Given the description of an element on the screen output the (x, y) to click on. 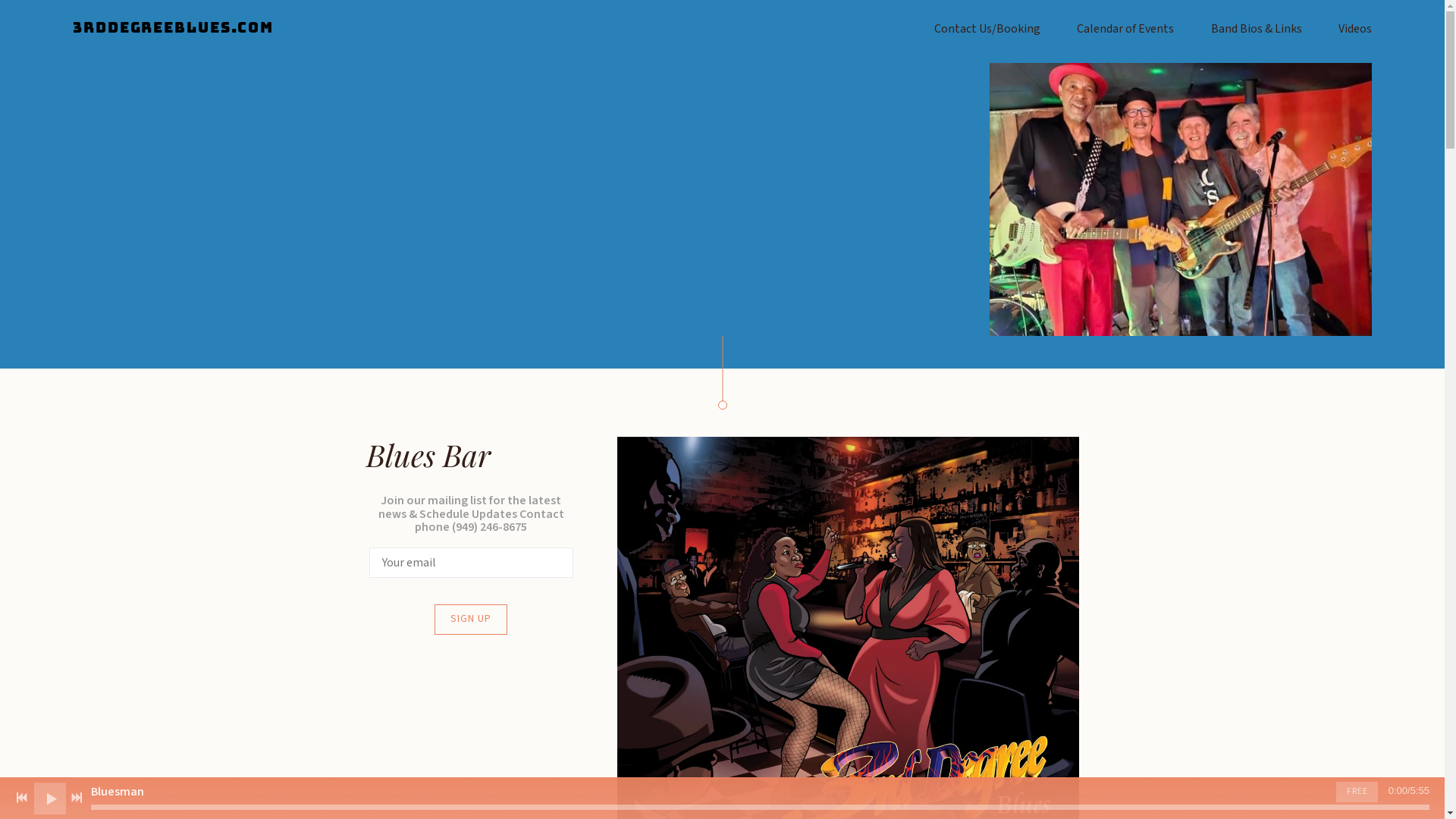
3rdDegreeBlues.com Element type: text (172, 28)
Calendar of Events Element type: text (1124, 29)
Contact Us/Booking Element type: text (987, 29)
Band Bios & Links Element type: text (1256, 29)
Previous track Element type: hover (21, 797)
SIGN UP Element type: text (470, 619)
Play Element type: hover (49, 797)
Videos Element type: text (1354, 29)
Next track Element type: hover (76, 797)
FREE Element type: text (1356, 791)
